Given the description of an element on the screen output the (x, y) to click on. 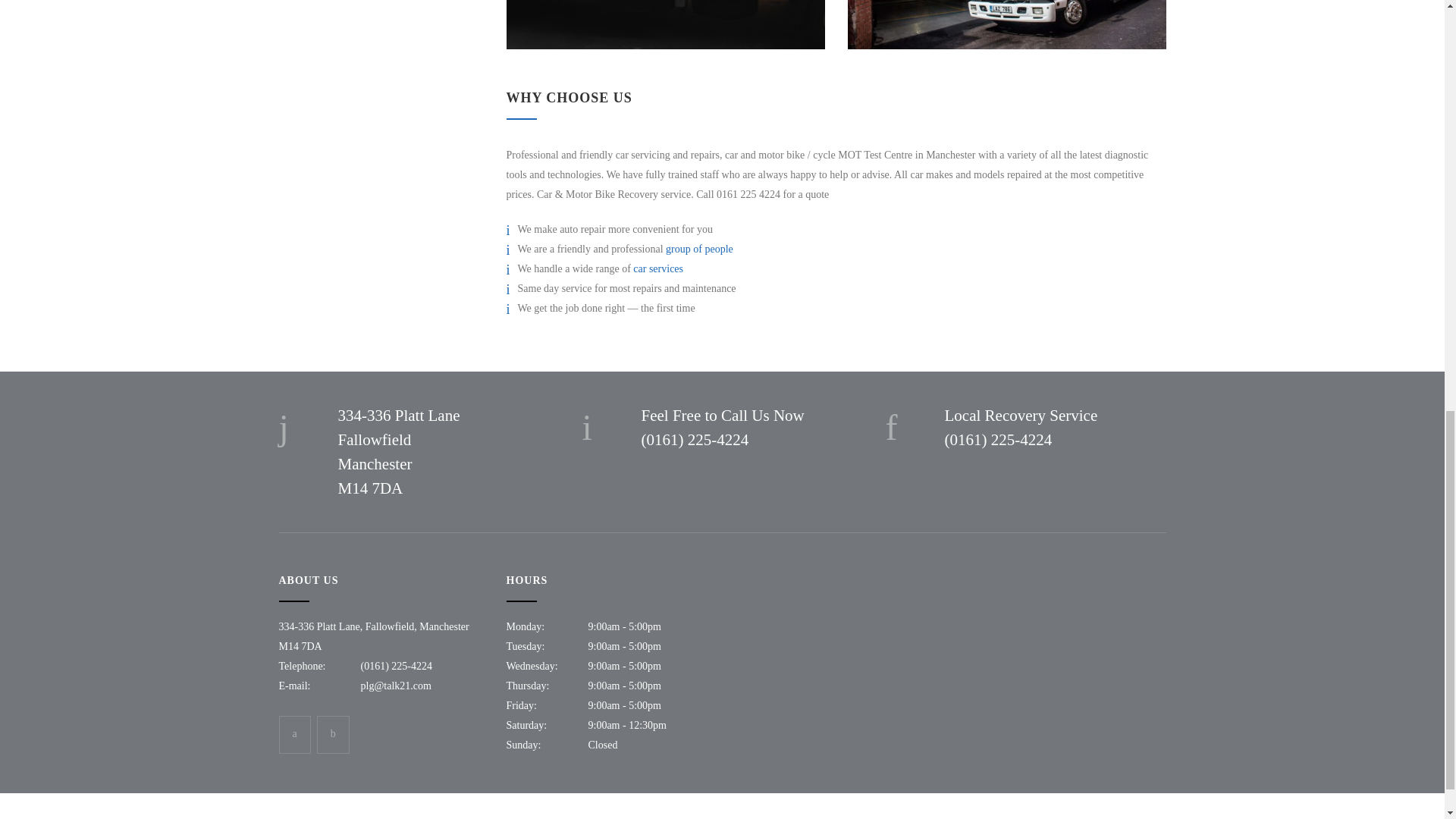
group of people (699, 248)
car services (657, 268)
